Given the description of an element on the screen output the (x, y) to click on. 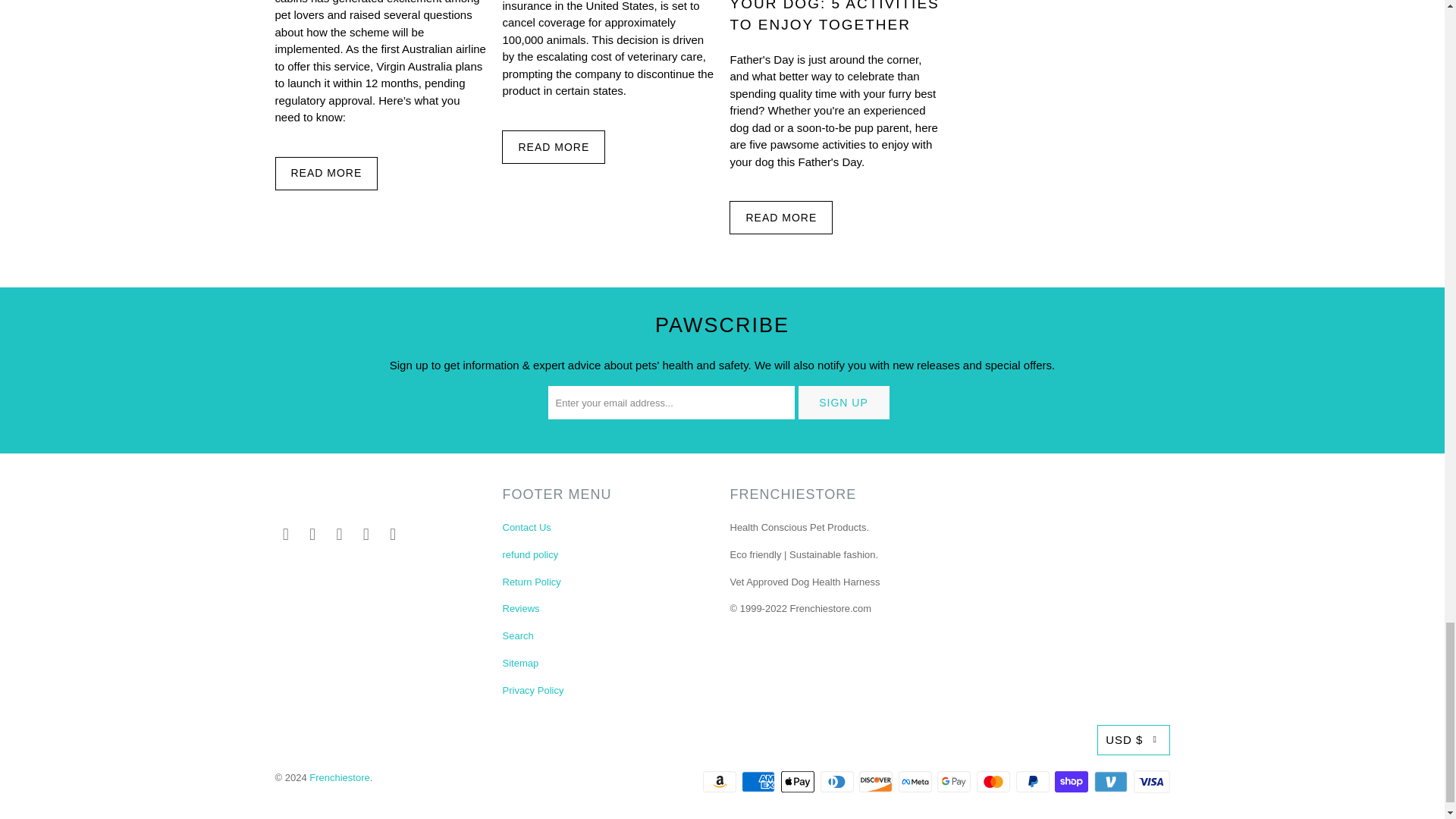
Sign Up (842, 402)
Mastercard (994, 781)
Apple Pay (798, 781)
American Express (759, 781)
Visa (1150, 781)
Discover (877, 781)
Google Pay (955, 781)
Meta Pay (916, 781)
Venmo (1112, 781)
Shop Pay (1072, 781)
